Given the description of an element on the screen output the (x, y) to click on. 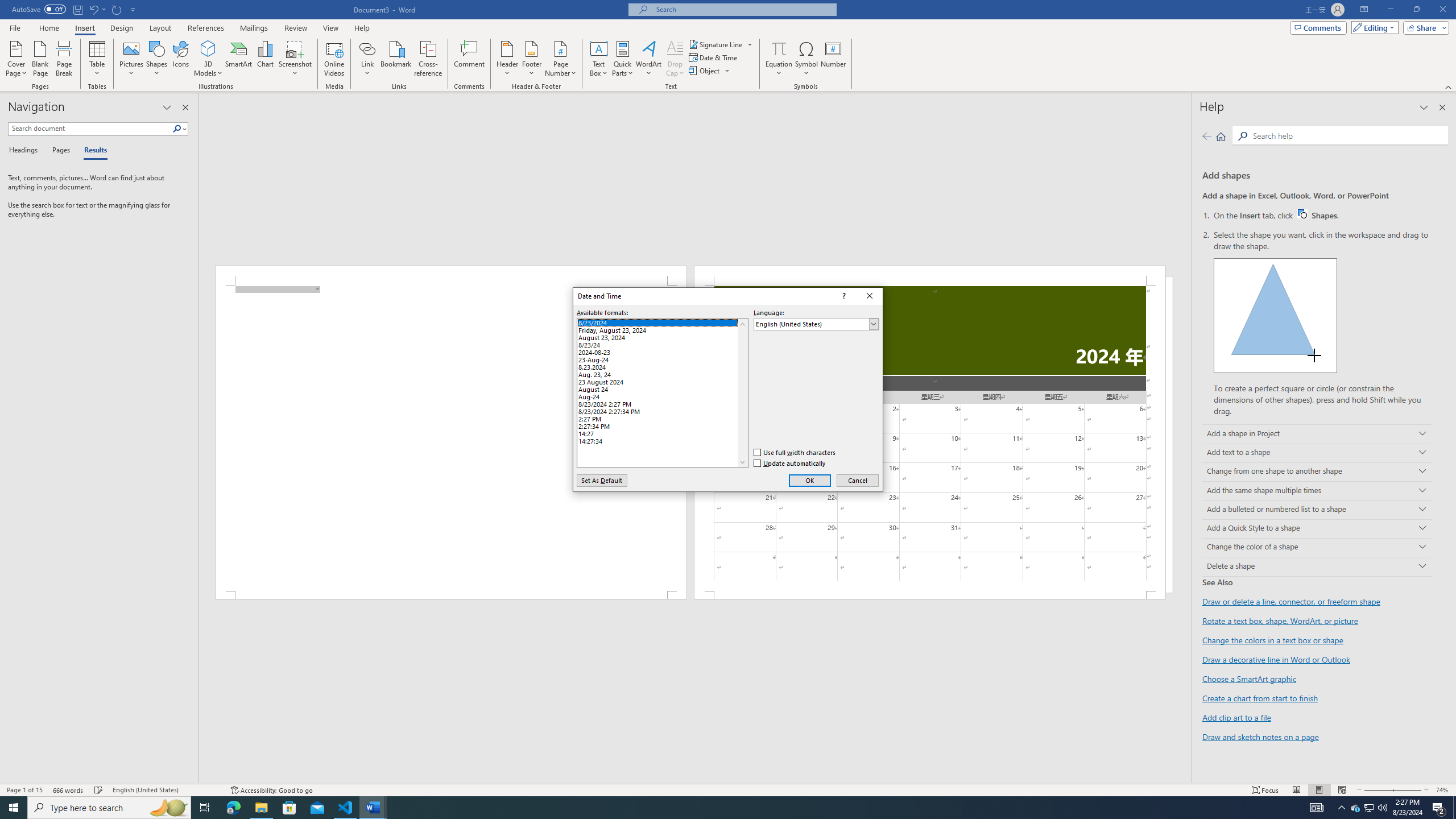
Running applications (717, 807)
Create a chart from start to finish (1259, 697)
Table (1355, 807)
8.23.2024 (97, 58)
Cancel (662, 365)
AutomationID: 4105 (857, 480)
Word - 2 running windows (1316, 807)
Rotate a text box, shape, WordArt, or picture (373, 807)
Draw a decorative line in Word or Outlook (1280, 620)
